Given the description of an element on the screen output the (x, y) to click on. 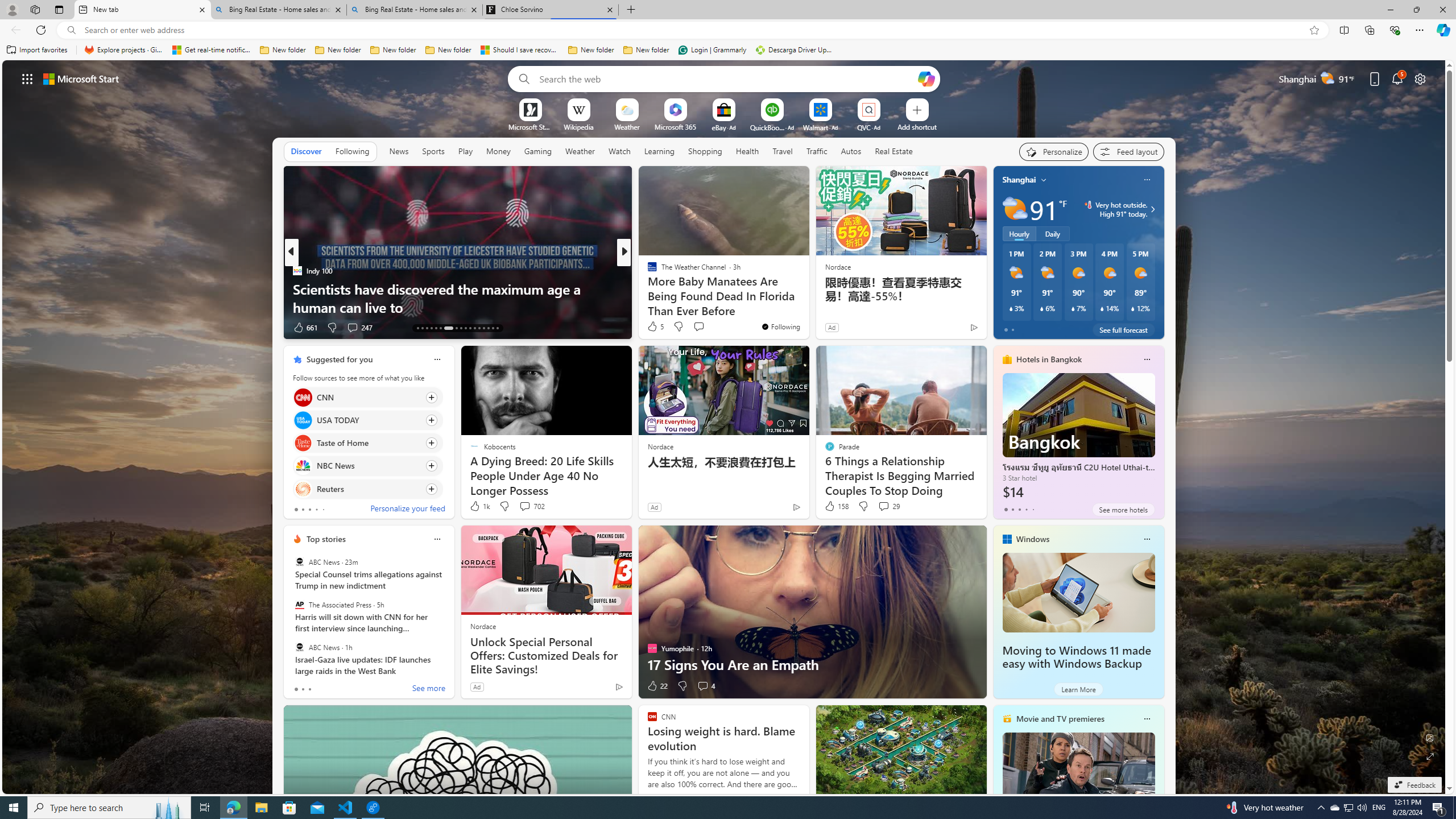
Learning (658, 151)
Top 10 Worst Things To Do When Camping (807, 307)
Travel (782, 151)
View comments 25 Comment (704, 327)
CNN (302, 397)
ETNT Mind+Body (647, 270)
View comments 2 Comment (698, 327)
You're following The Weather Channel (780, 326)
146 Like (654, 327)
Indy 100 (296, 270)
tab-1 (302, 689)
12 YouTube Features You'll Kick Yourself For Not Using (807, 298)
See full forecast (1123, 329)
